Given the description of an element on the screen output the (x, y) to click on. 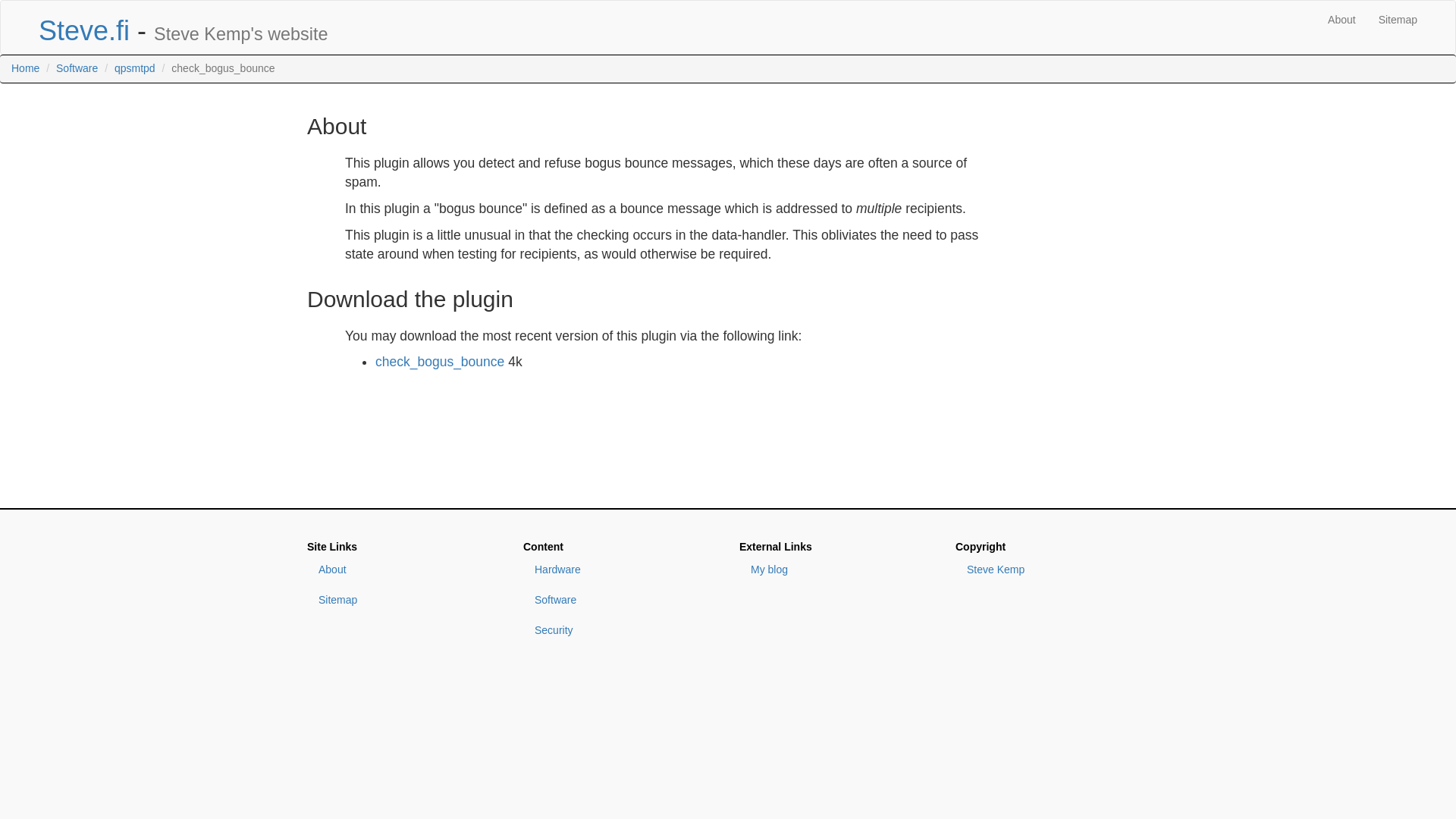
Software (76, 68)
Security (619, 630)
Hardware (619, 570)
Home (25, 68)
Steve.fi (84, 30)
My blog (836, 570)
Sitemap (403, 600)
Software (619, 600)
Steve Kemp (1051, 570)
qpsmtpd (135, 68)
Sitemap (1397, 19)
About (1341, 19)
About (403, 570)
